Given the description of an element on the screen output the (x, y) to click on. 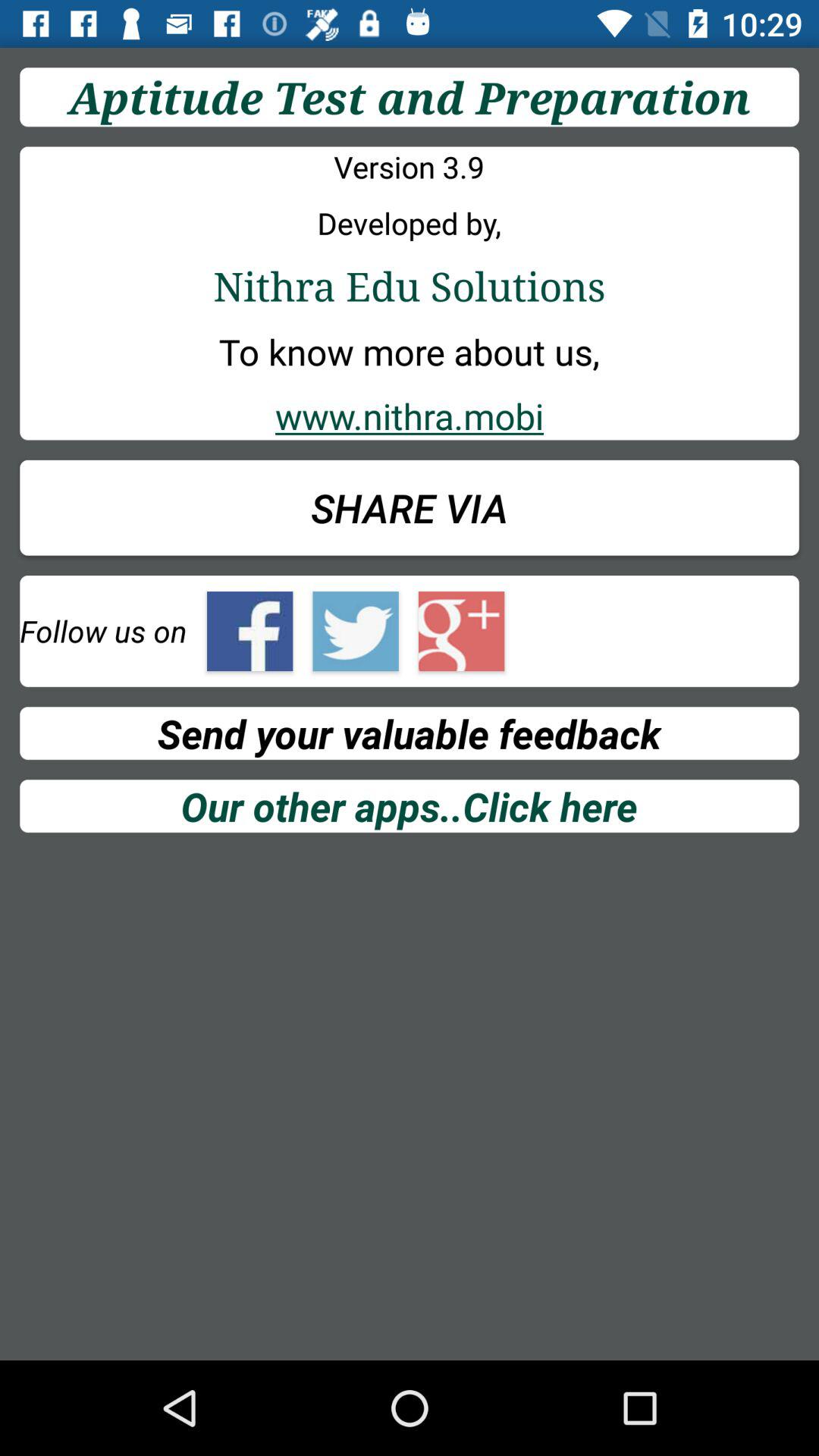
facebook (249, 631)
